Given the description of an element on the screen output the (x, y) to click on. 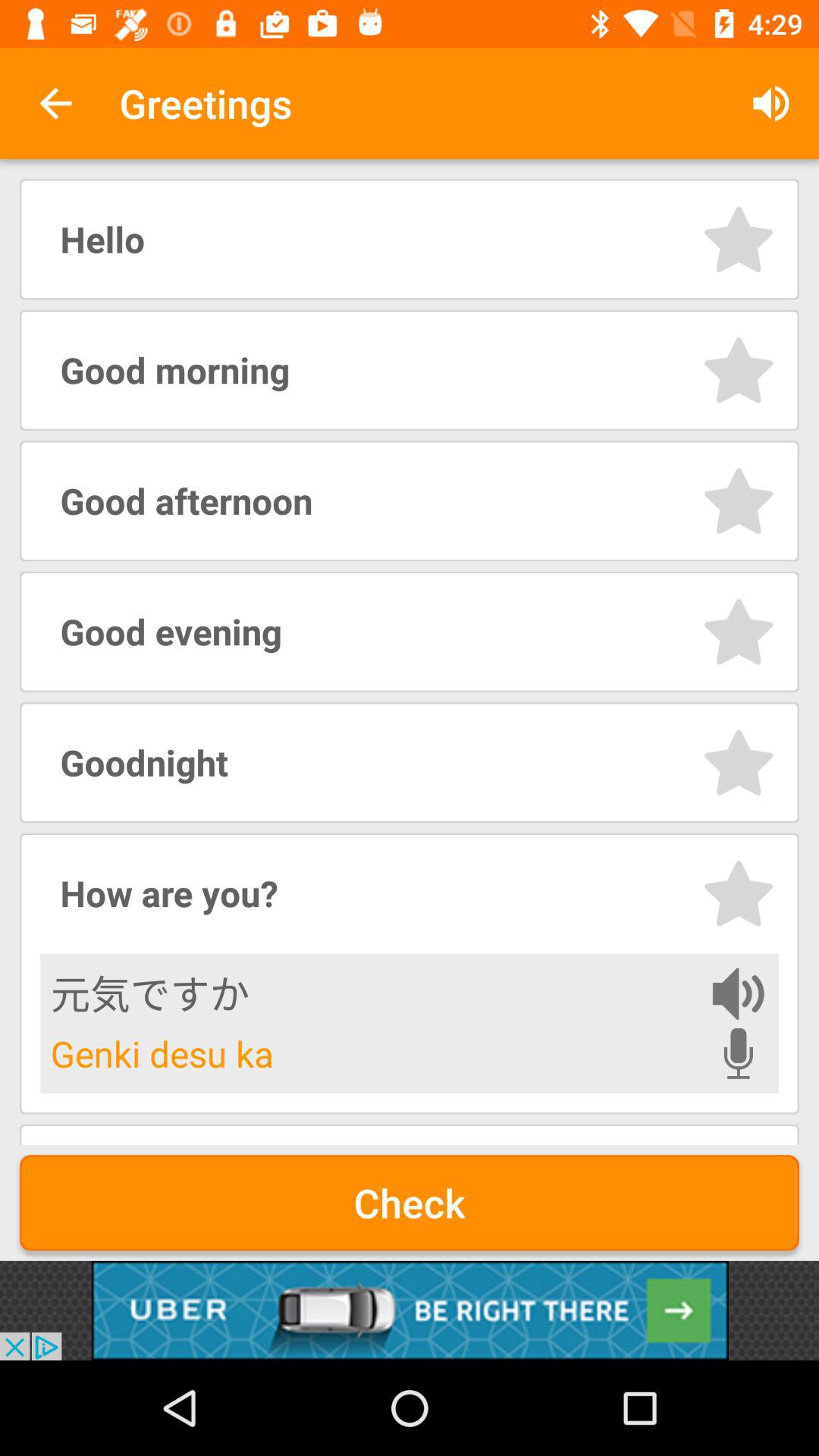
listen to the pronunciation of the phrase (738, 993)
